Given the description of an element on the screen output the (x, y) to click on. 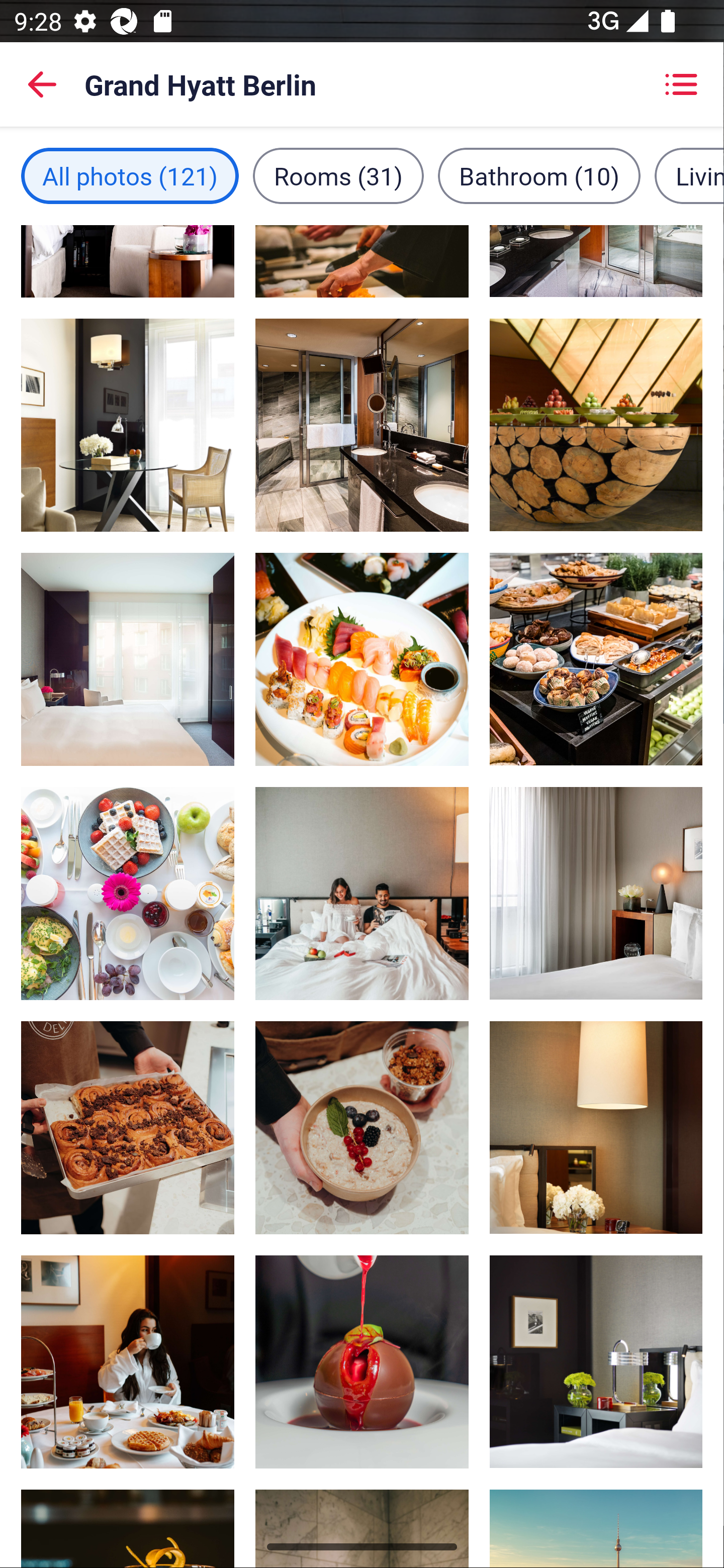
Back (42, 84)
Showing grid view (681, 84)
All photos filter, 121 images (129, 175)
Rooms filter, 31 images (337, 175)
Bathroom filter, 10 images (539, 175)
Living area filter, 12 images (688, 175)
Meeting facility, image (595, 424)
2 restaurants, Asian cuisine, image (361, 659)
Daily buffet breakfast (EUR 44 per person), image (595, 659)
2 restaurants, Asian cuisine, image (127, 893)
2 restaurants, Asian cuisine, image (127, 1127)
2 restaurants, Asian cuisine, image (361, 1127)
2 restaurants, Asian cuisine, image (361, 1362)
